Given the description of an element on the screen output the (x, y) to click on. 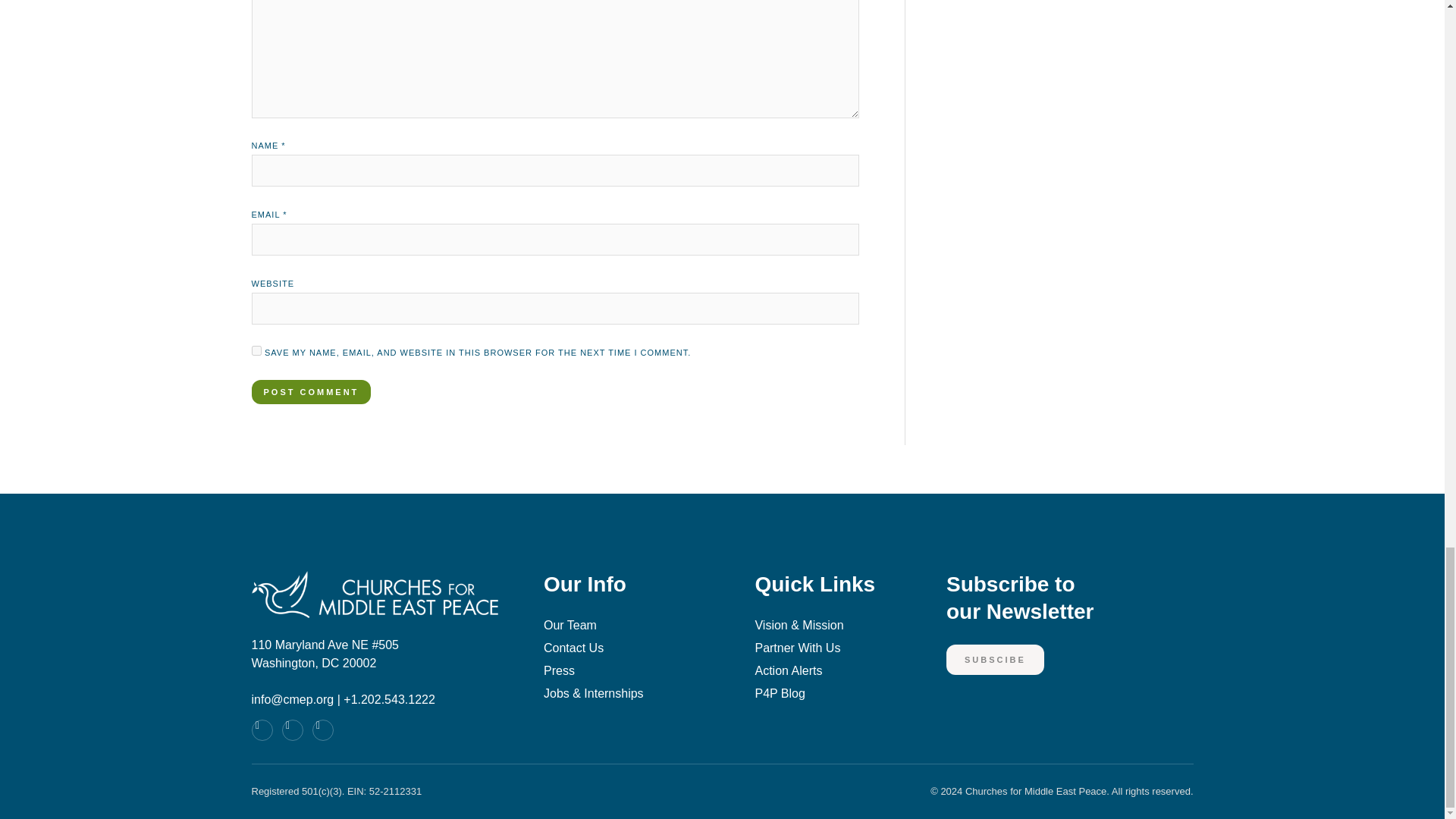
Our Info (626, 593)
yes (256, 350)
Post Comment (1069, 607)
SUBSCIBE (311, 392)
Quick Links (994, 659)
